Given the description of an element on the screen output the (x, y) to click on. 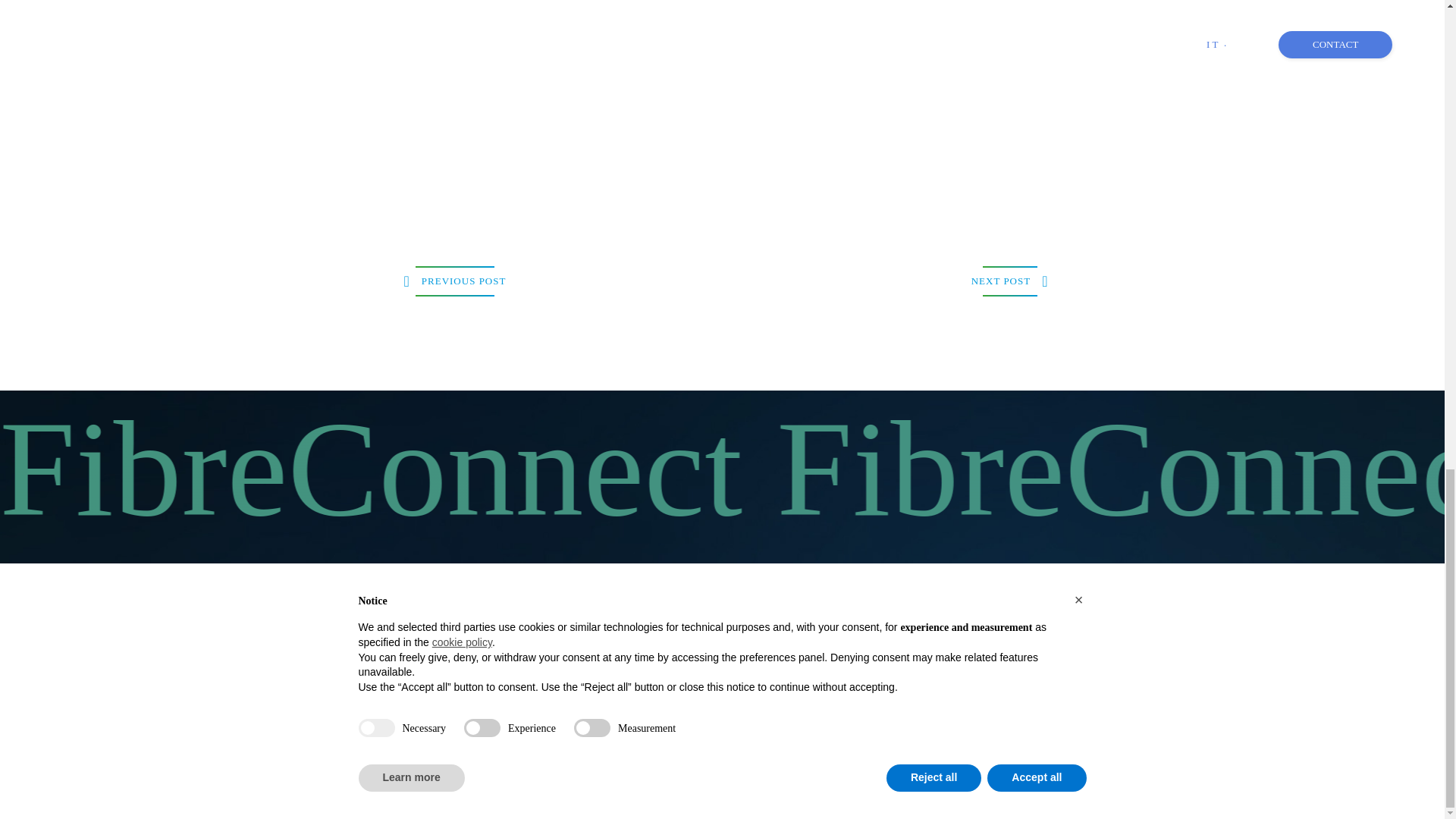
cookies policy (286, 781)
Linkedin (1085, 670)
NEXT POST (1010, 281)
ethical code (403, 781)
privacy policy (347, 781)
P. 06-87484810 (753, 634)
PREVIOUS POST (454, 281)
